Given the description of an element on the screen output the (x, y) to click on. 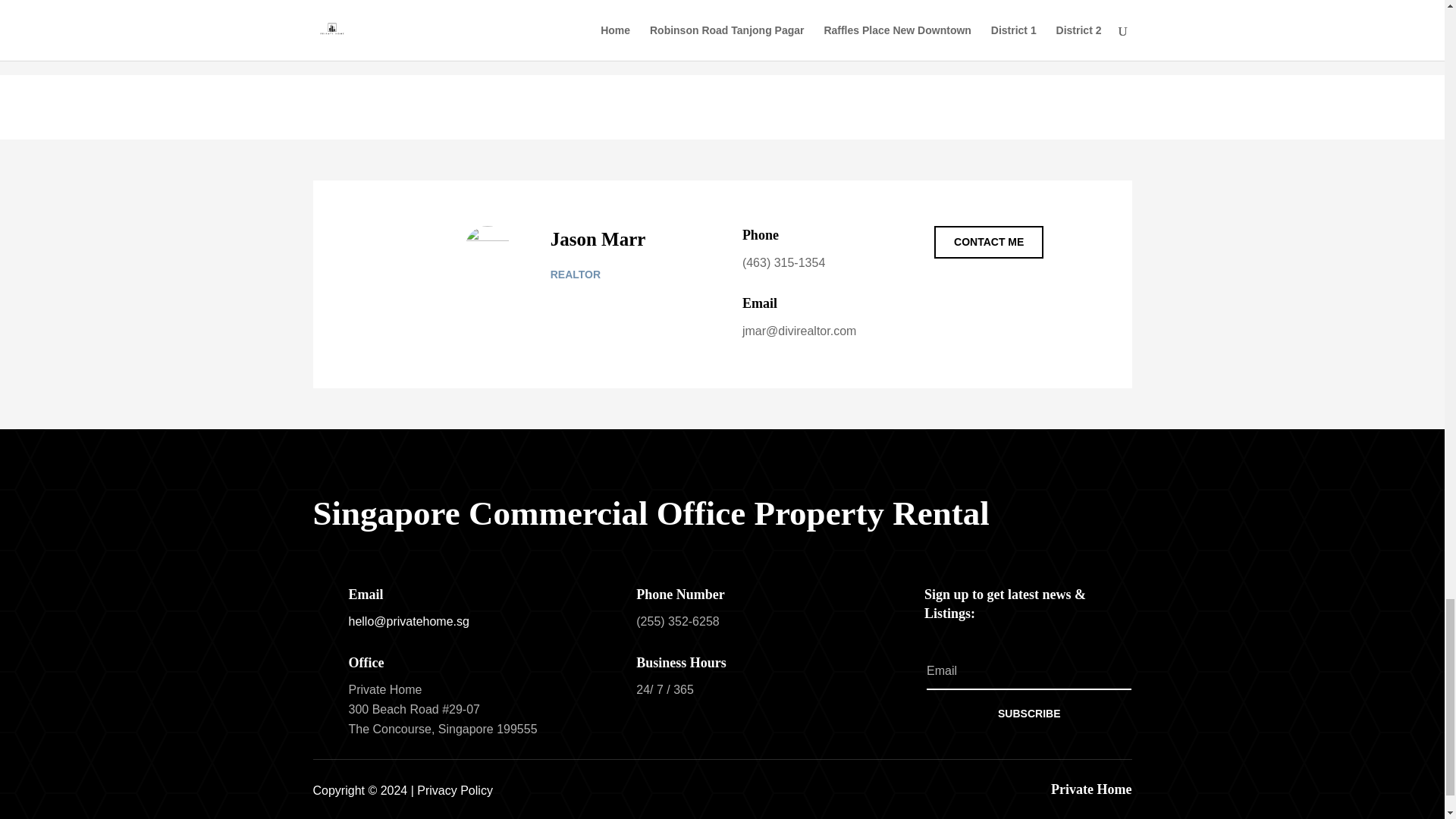
SUBSCRIBE (1028, 714)
CONTACT ME (988, 242)
real-estate-16 (487, 248)
Privacy Policy (454, 789)
